Given the description of an element on the screen output the (x, y) to click on. 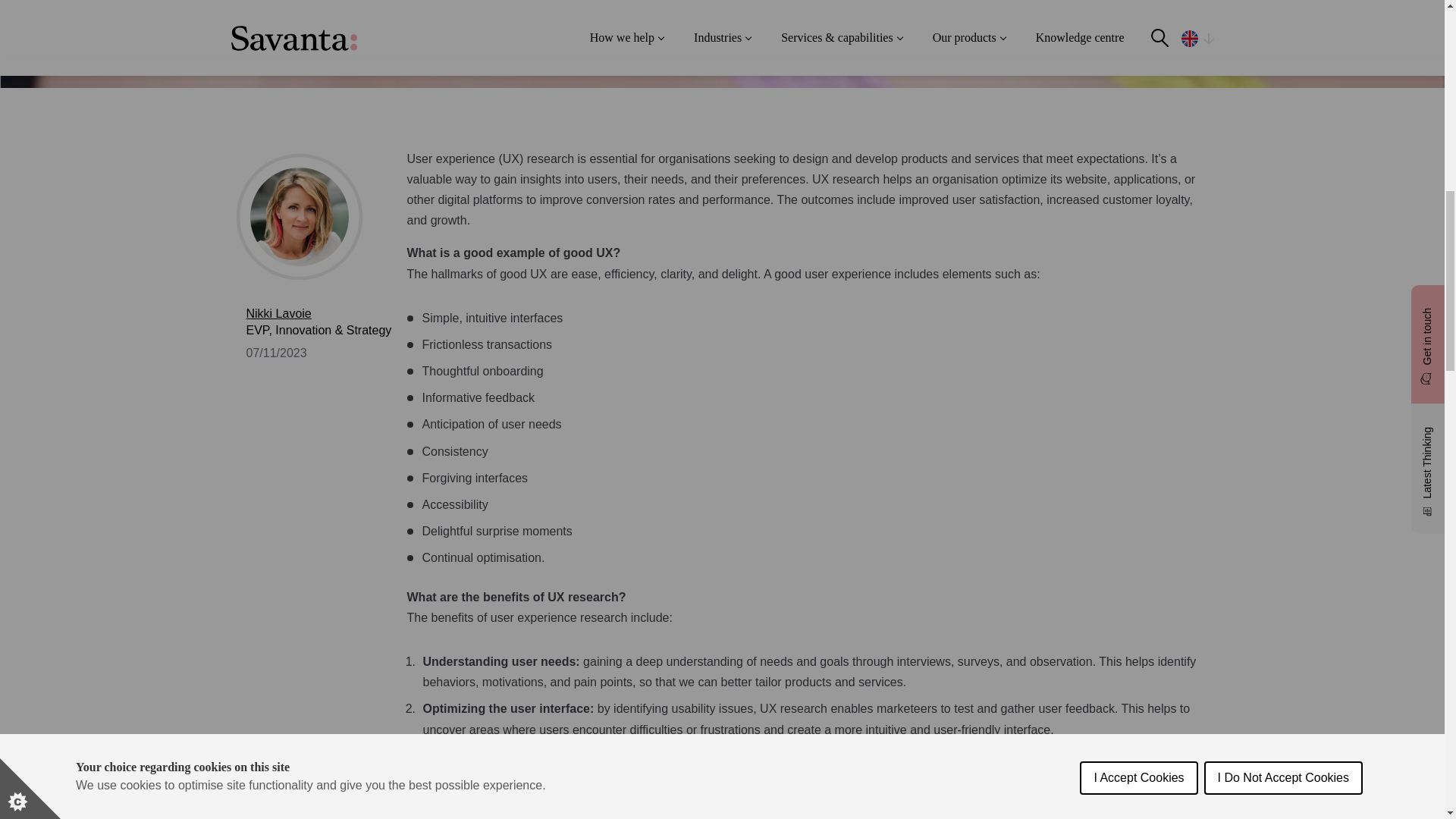
I Do Not Accept Cookies (1283, 12)
I Accept Cookies (1138, 24)
